Given the description of an element on the screen output the (x, y) to click on. 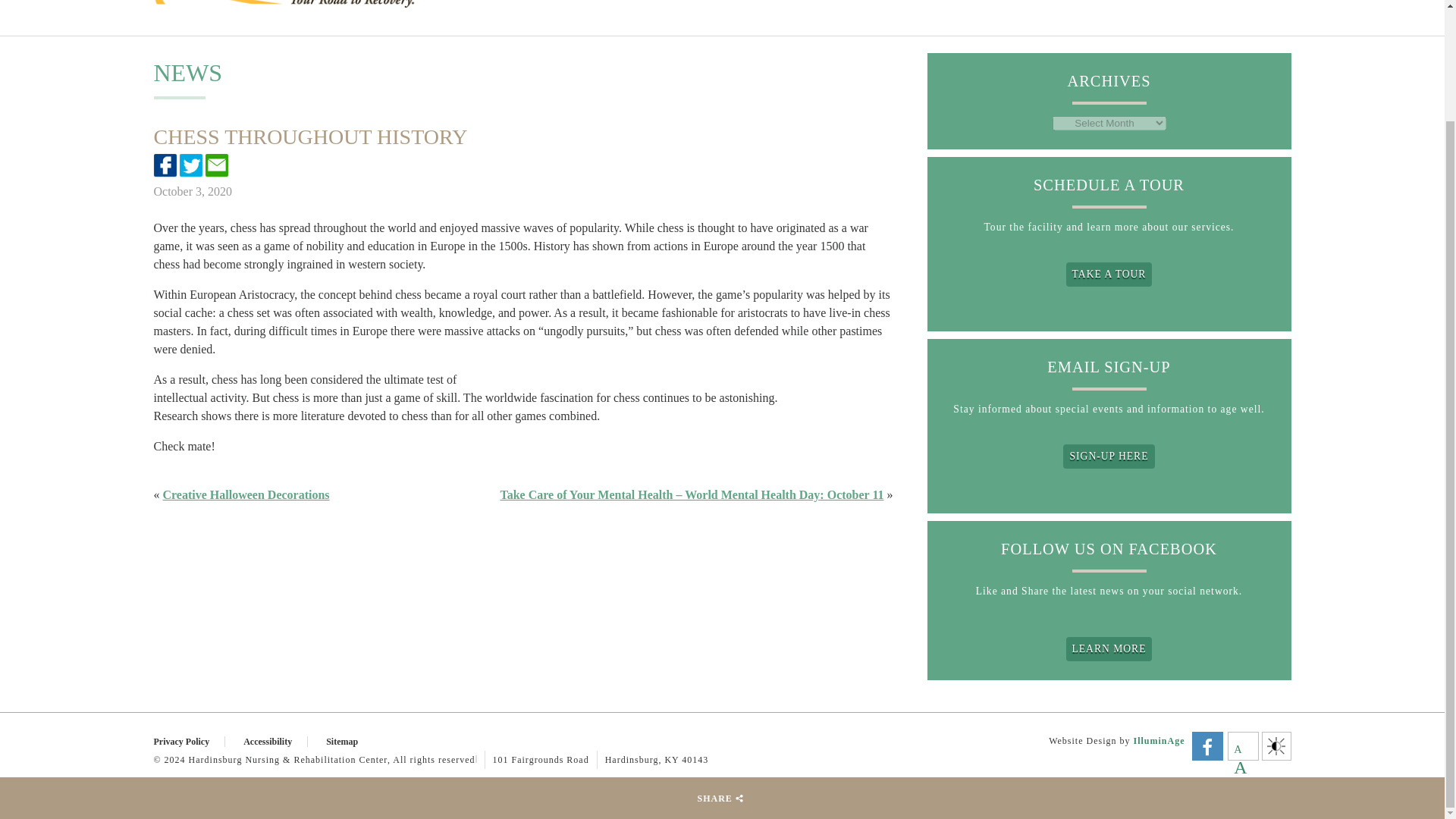
Accessibility (275, 741)
Creative Halloween Decorations (245, 494)
High Contrast: White Background with Black Text (1276, 746)
Privacy Policy (188, 741)
TAKE A TOUR (1109, 274)
LEARN MORE (1109, 648)
SIGN-UP HERE (1108, 456)
IlluminAge (1158, 740)
Sitemap (350, 741)
